Given the description of an element on the screen output the (x, y) to click on. 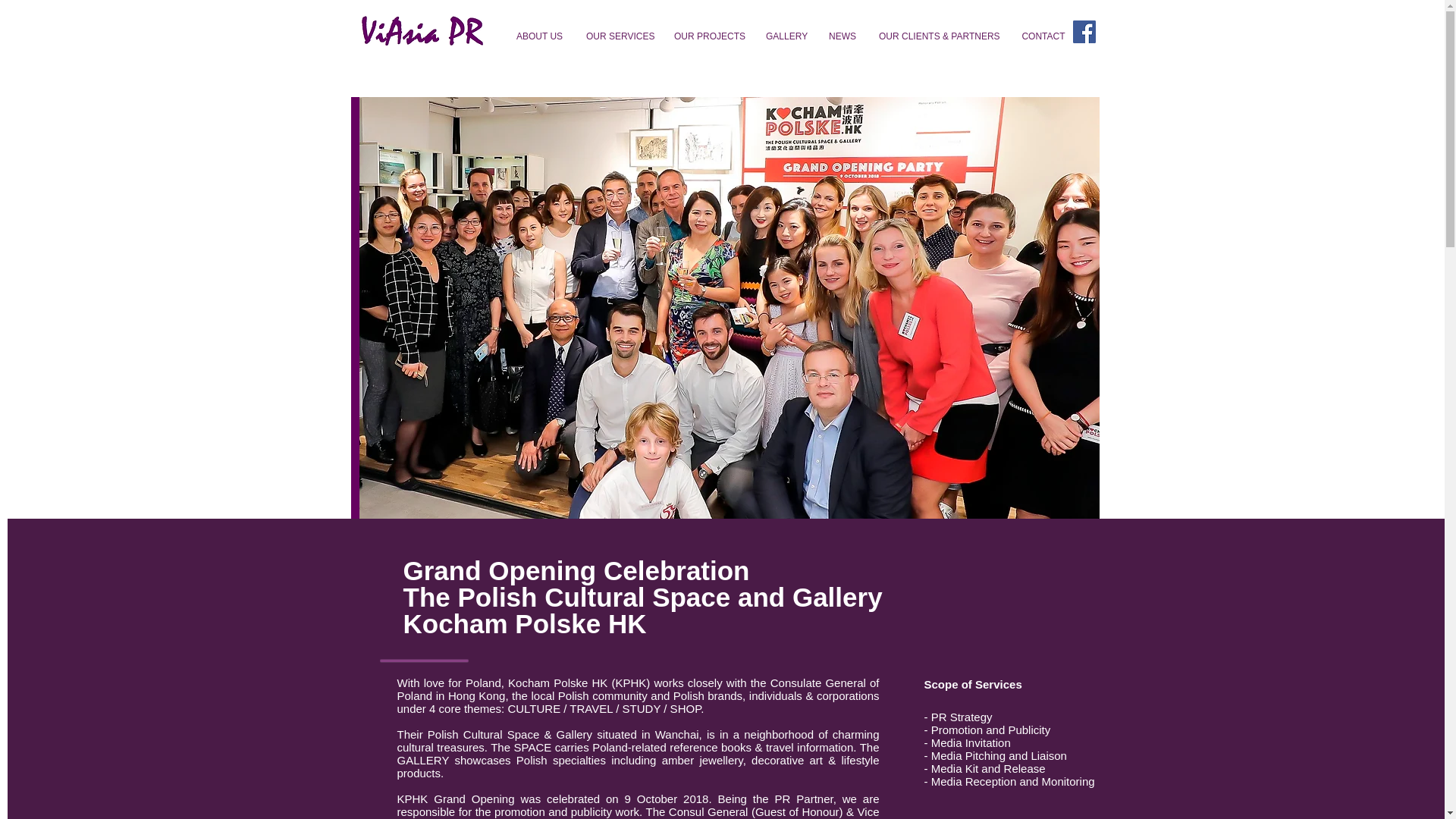
CONTACT (1043, 36)
OUR PROJECTS (708, 36)
ABOUT US (539, 36)
GALLERY (785, 36)
NEWS (841, 36)
OUR SERVICES (618, 36)
